Given the description of an element on the screen output the (x, y) to click on. 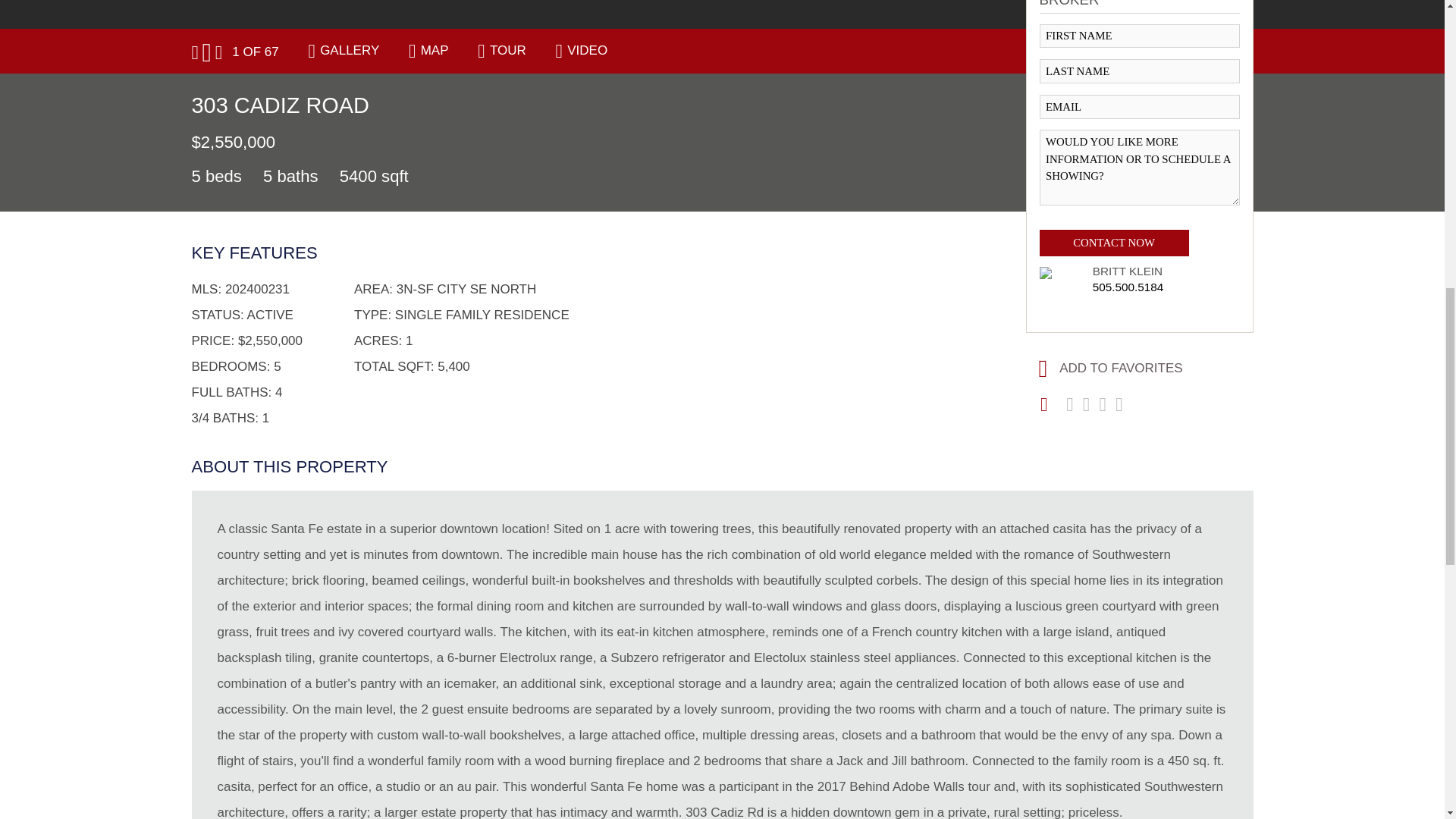
GALLERY (349, 50)
Virtual Tours (507, 50)
Contact Now (1113, 242)
VIDEO (587, 50)
MAP (434, 50)
TOUR (507, 50)
Contact Now (1113, 242)
Map of Property (434, 50)
